Given the description of an element on the screen output the (x, y) to click on. 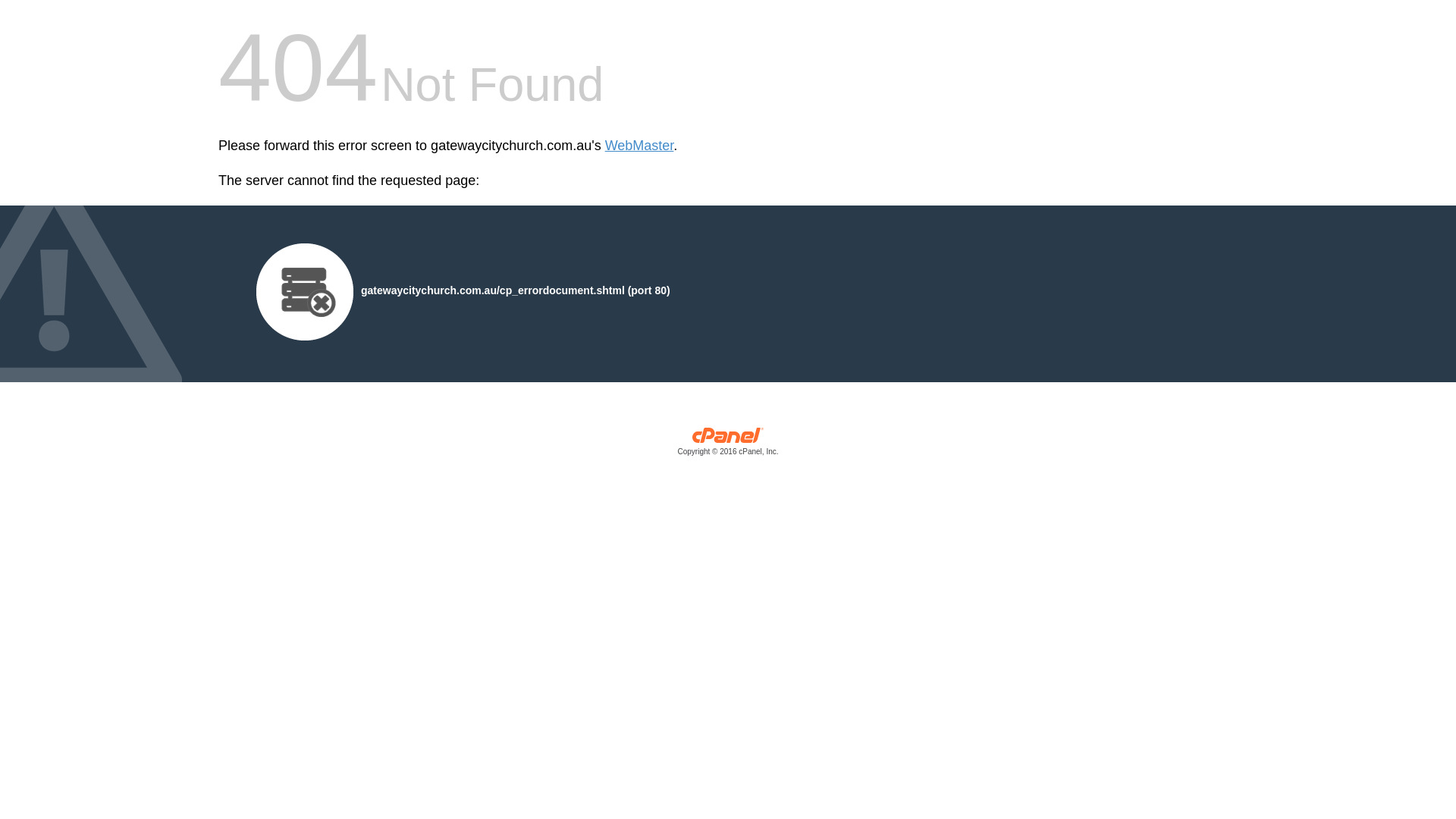
WebMaster Element type: text (639, 145)
